Given the description of an element on the screen output the (x, y) to click on. 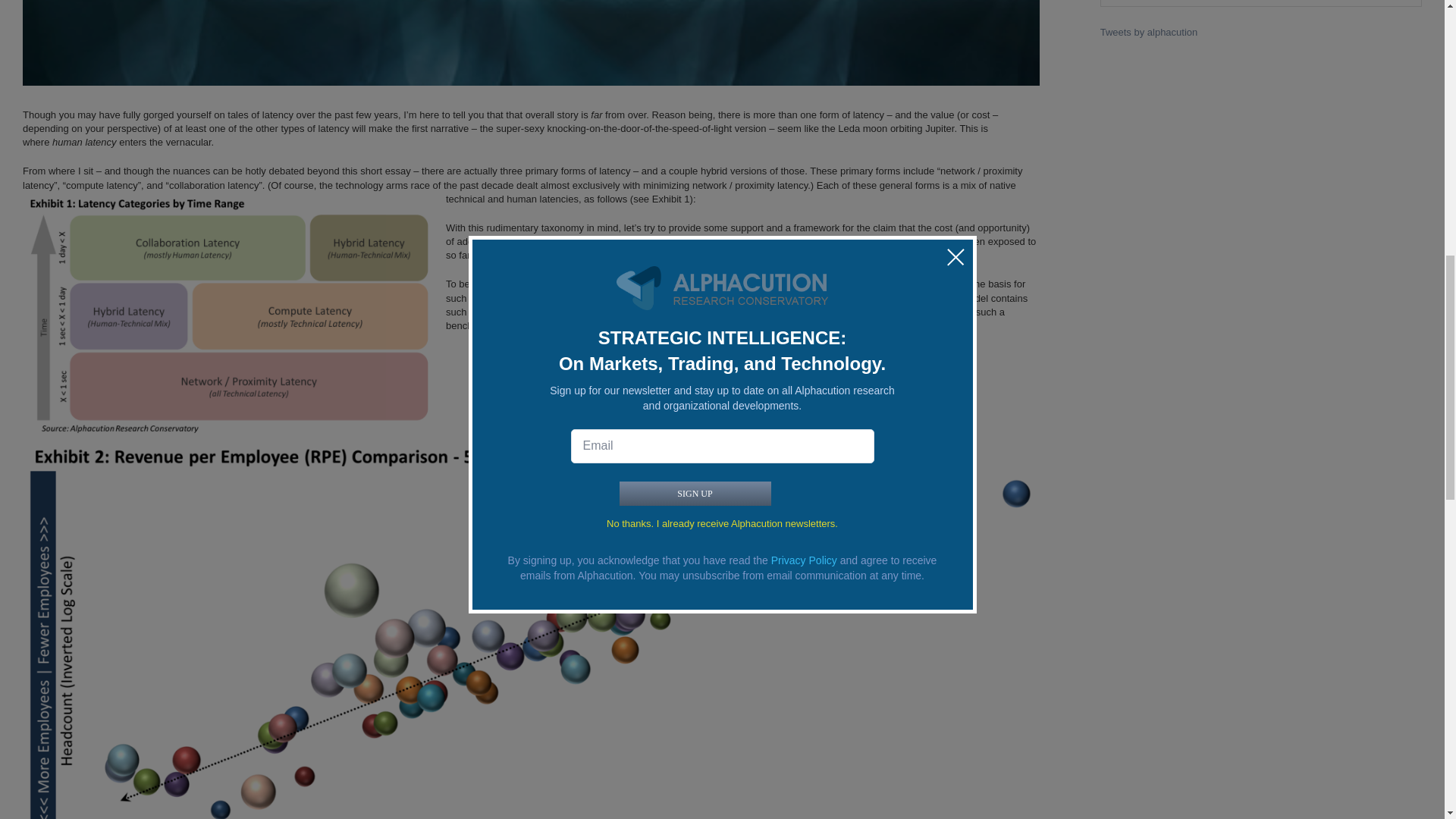
Many faces (531, 42)
View Larger Image (531, 42)
